Given the description of an element on the screen output the (x, y) to click on. 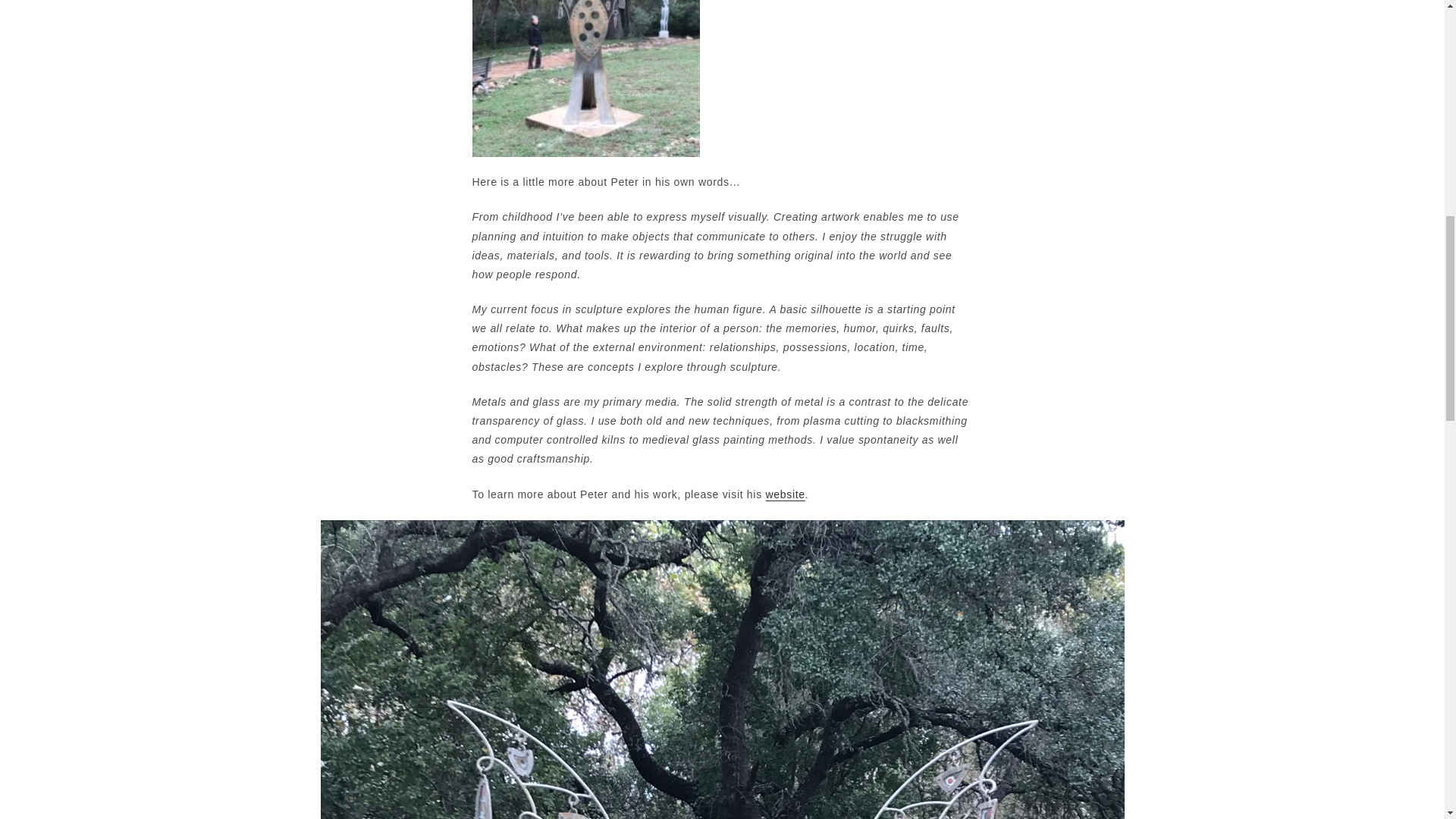
website (785, 494)
